Given the description of an element on the screen output the (x, y) to click on. 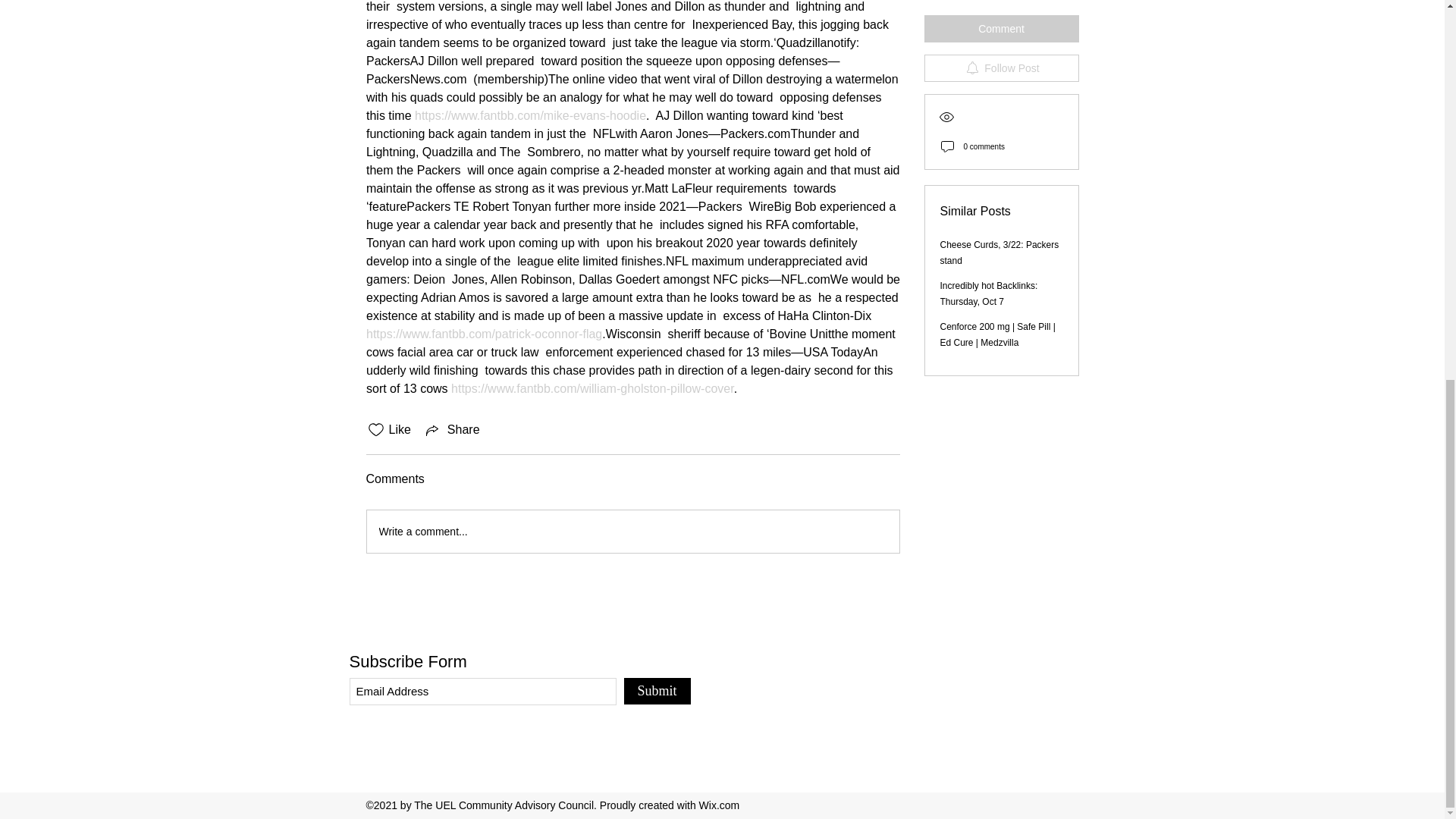
Share (451, 429)
Write a comment... (632, 531)
Submit (656, 691)
